Given the description of an element on the screen output the (x, y) to click on. 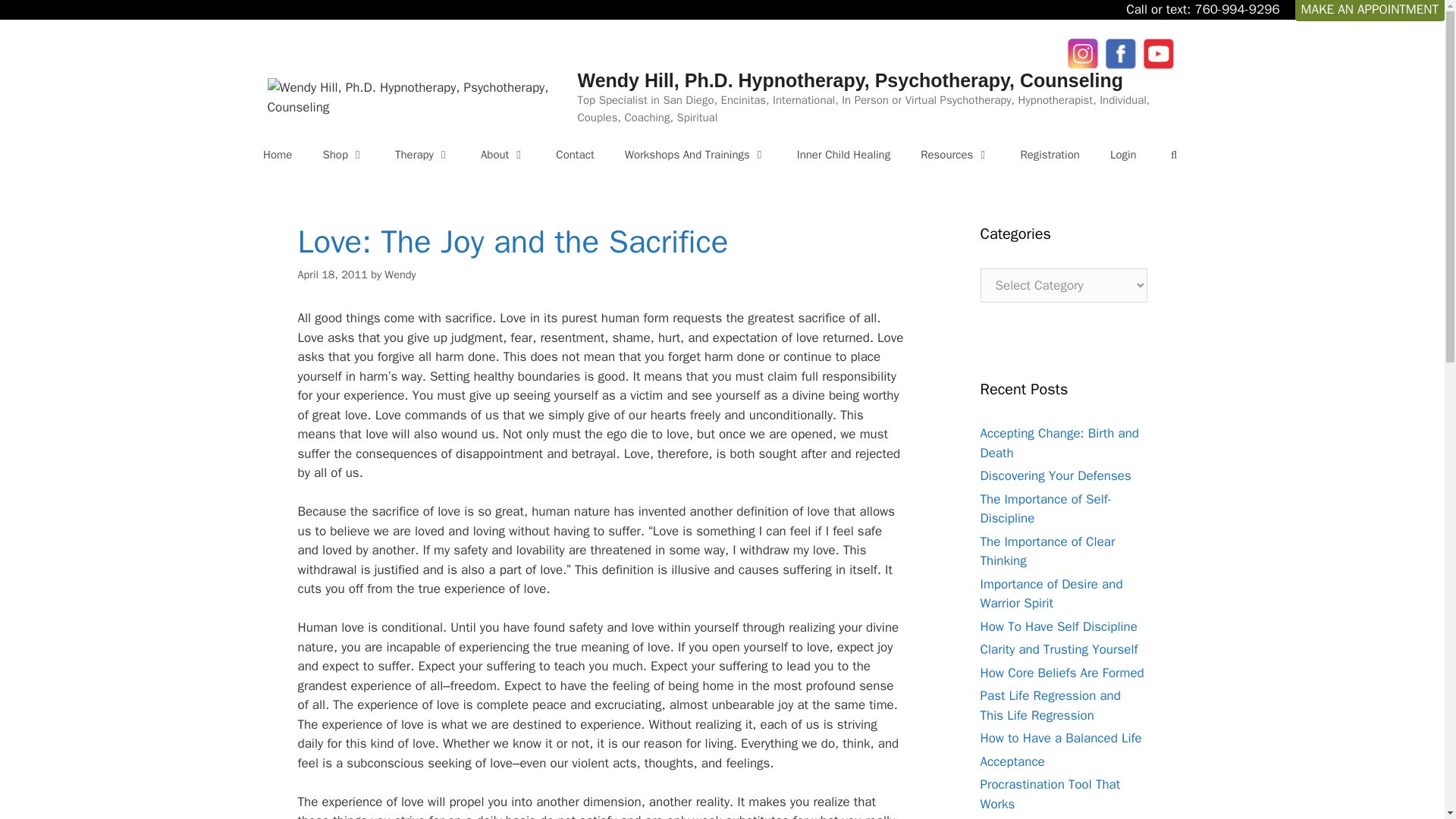
About (502, 154)
Therapy (422, 154)
Home (277, 154)
Wendy Hill, Ph.D. Hypnotherapy, Psychotherapy, Counseling (849, 79)
Shop (343, 154)
760-994-9296 (1236, 9)
Workshops And Trainings (695, 154)
Contact (574, 154)
View all posts by Wendy (399, 274)
